Given the description of an element on the screen output the (x, y) to click on. 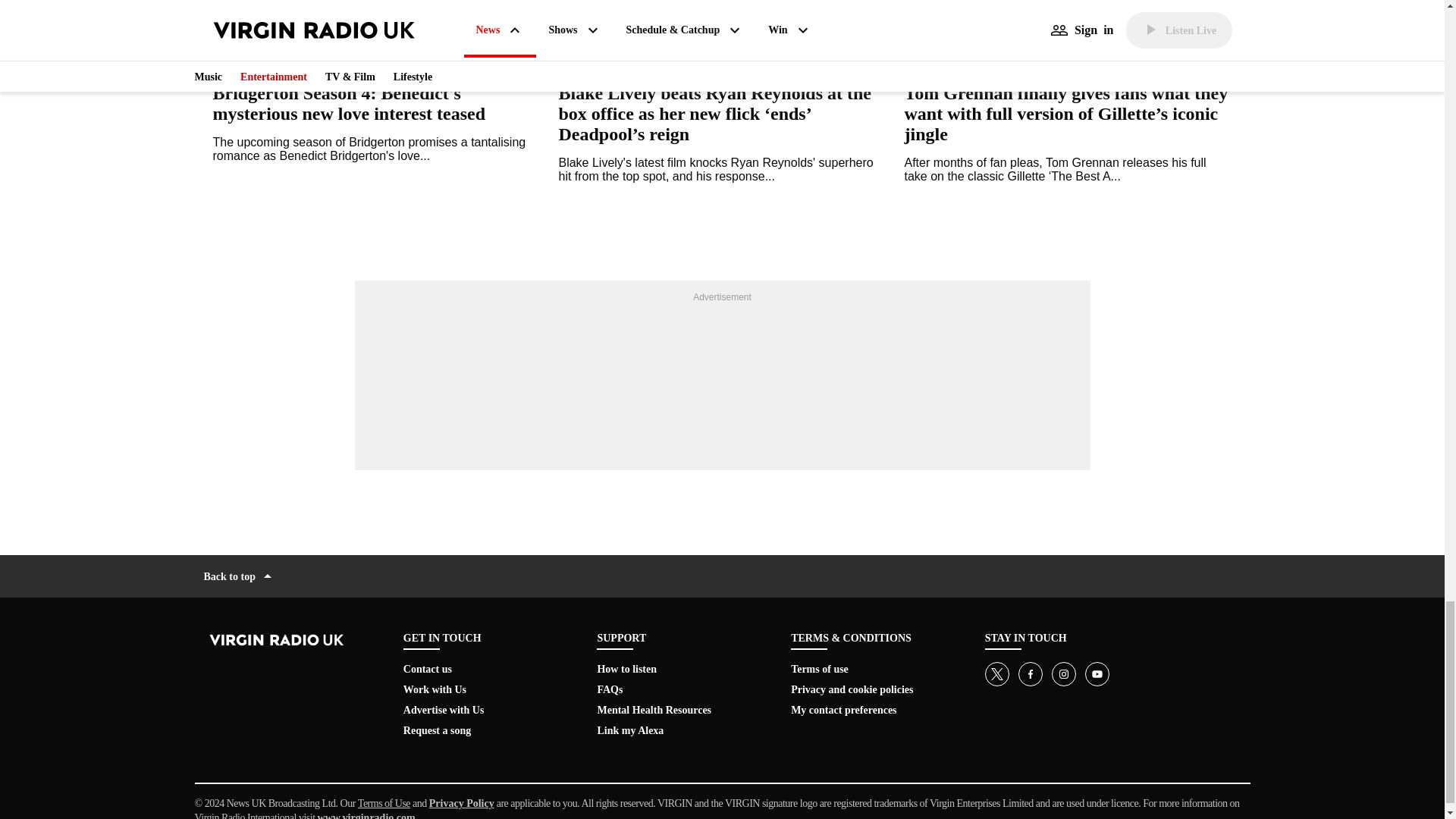
Advertise with Us (443, 709)
Back to top (239, 576)
Contact us (427, 669)
Request a song (436, 730)
How to listen (626, 669)
FAQs (609, 689)
Work with Us (434, 689)
